Given the description of an element on the screen output the (x, y) to click on. 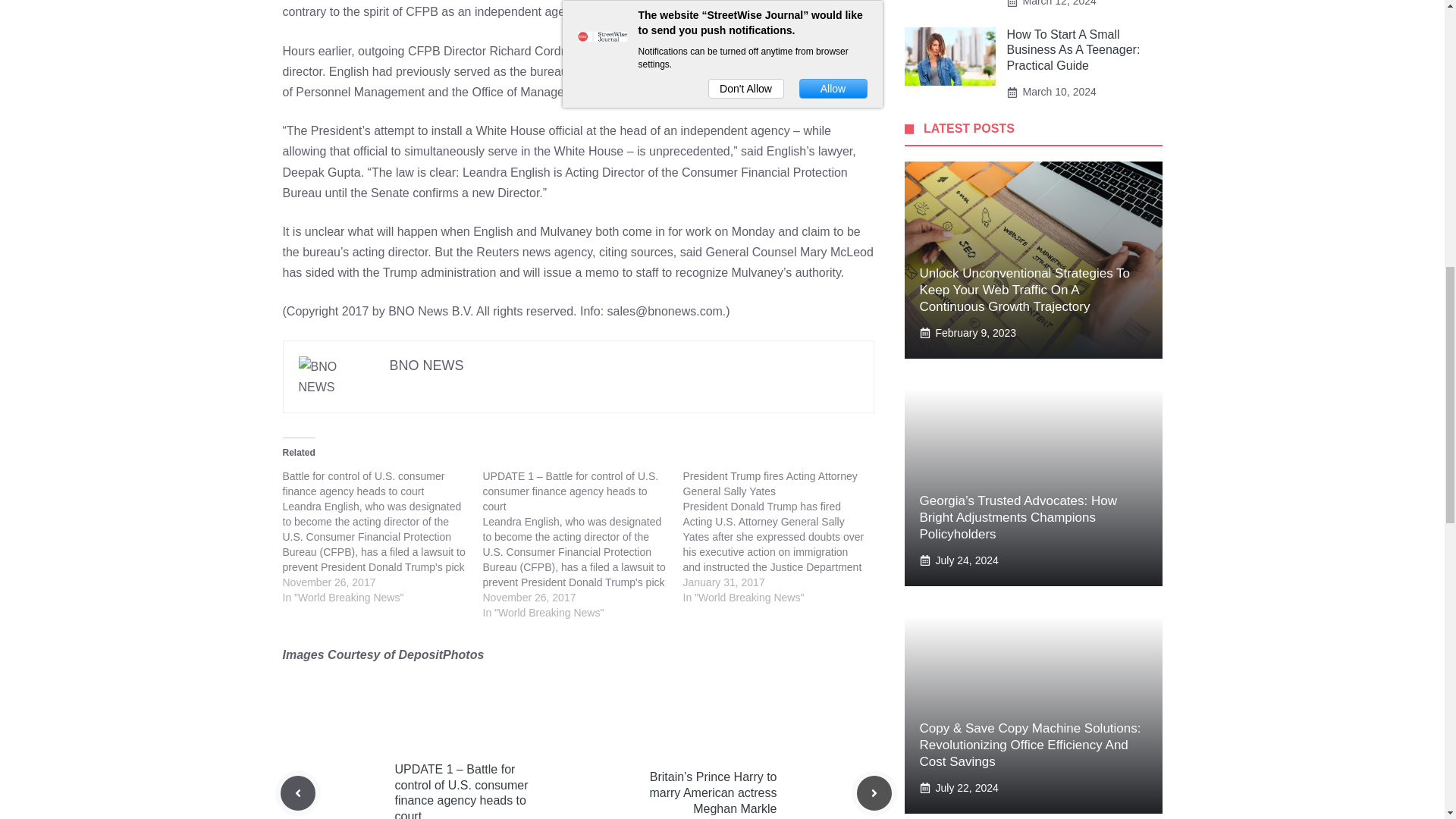
Scroll back to top (1406, 720)
President Trump fires Acting Attorney General Sally Yates (782, 536)
President Trump fires Acting Attorney General Sally Yates (769, 483)
DepositPhotos (440, 654)
BNO NEWS (427, 365)
How To Start A Small Business As A Teenager: Practical Guide (1073, 49)
President Trump fires Acting Attorney General Sally Yates (769, 483)
